Given the description of an element on the screen output the (x, y) to click on. 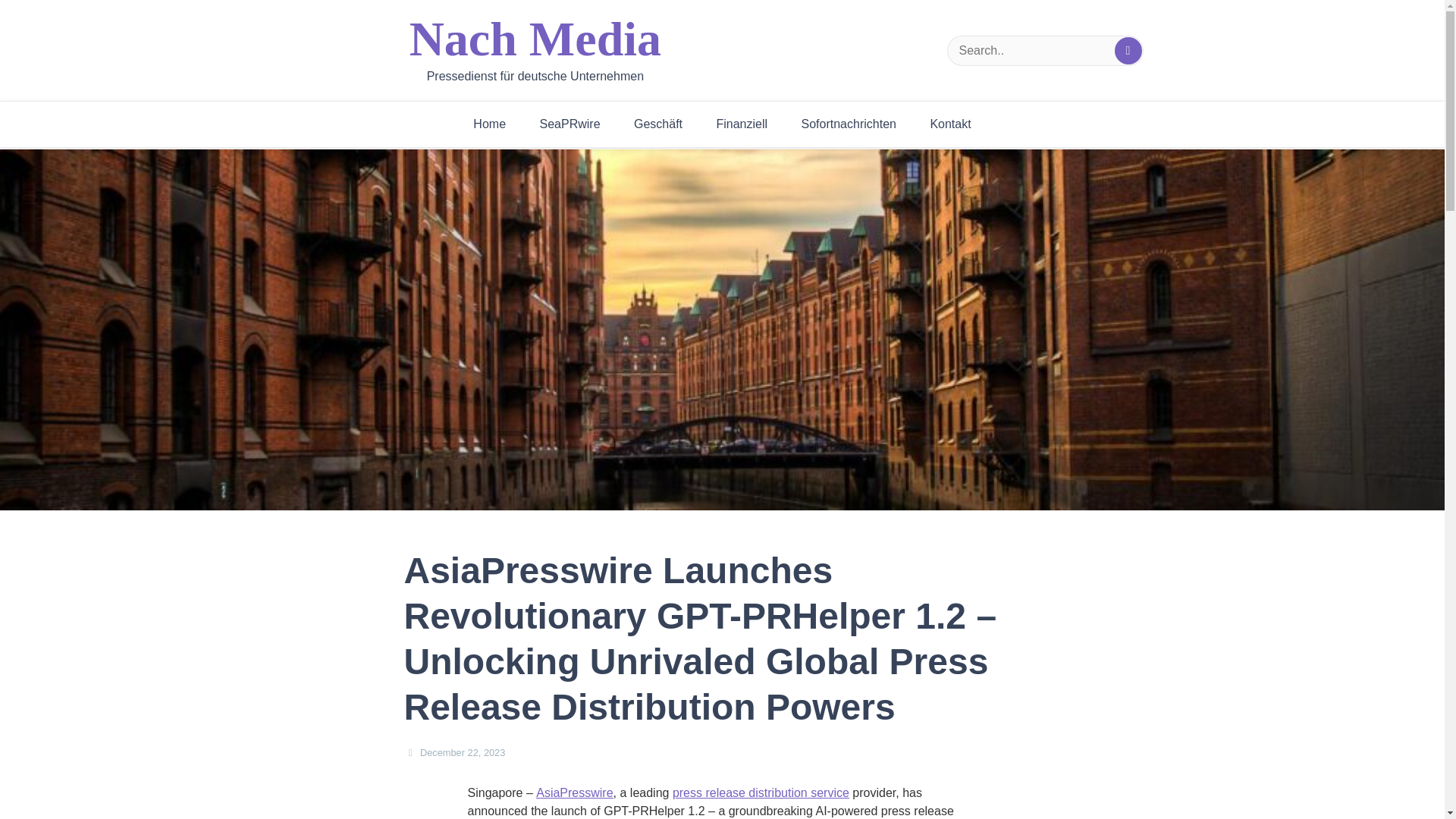
press release distribution service (760, 792)
Home (489, 123)
Nach Media (535, 39)
December 22, 2023 (462, 752)
AsiaPresswire (573, 792)
Finanziell (741, 123)
Sofortnachrichten (848, 123)
Kontakt (949, 123)
SeaPRwire (569, 123)
